Given the description of an element on the screen output the (x, y) to click on. 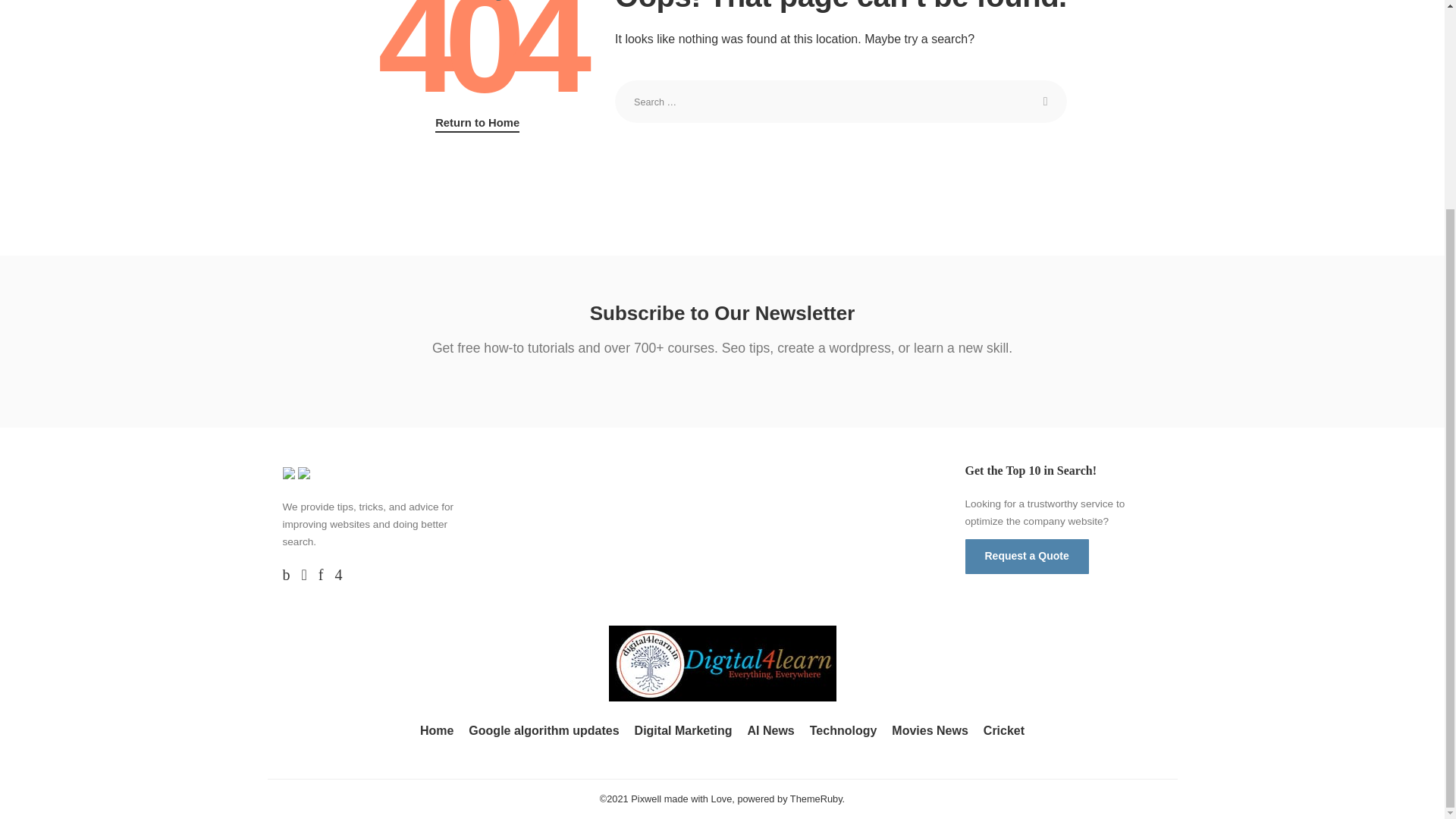
Return to Home (477, 123)
Search (1046, 101)
Search (1046, 101)
